Given the description of an element on the screen output the (x, y) to click on. 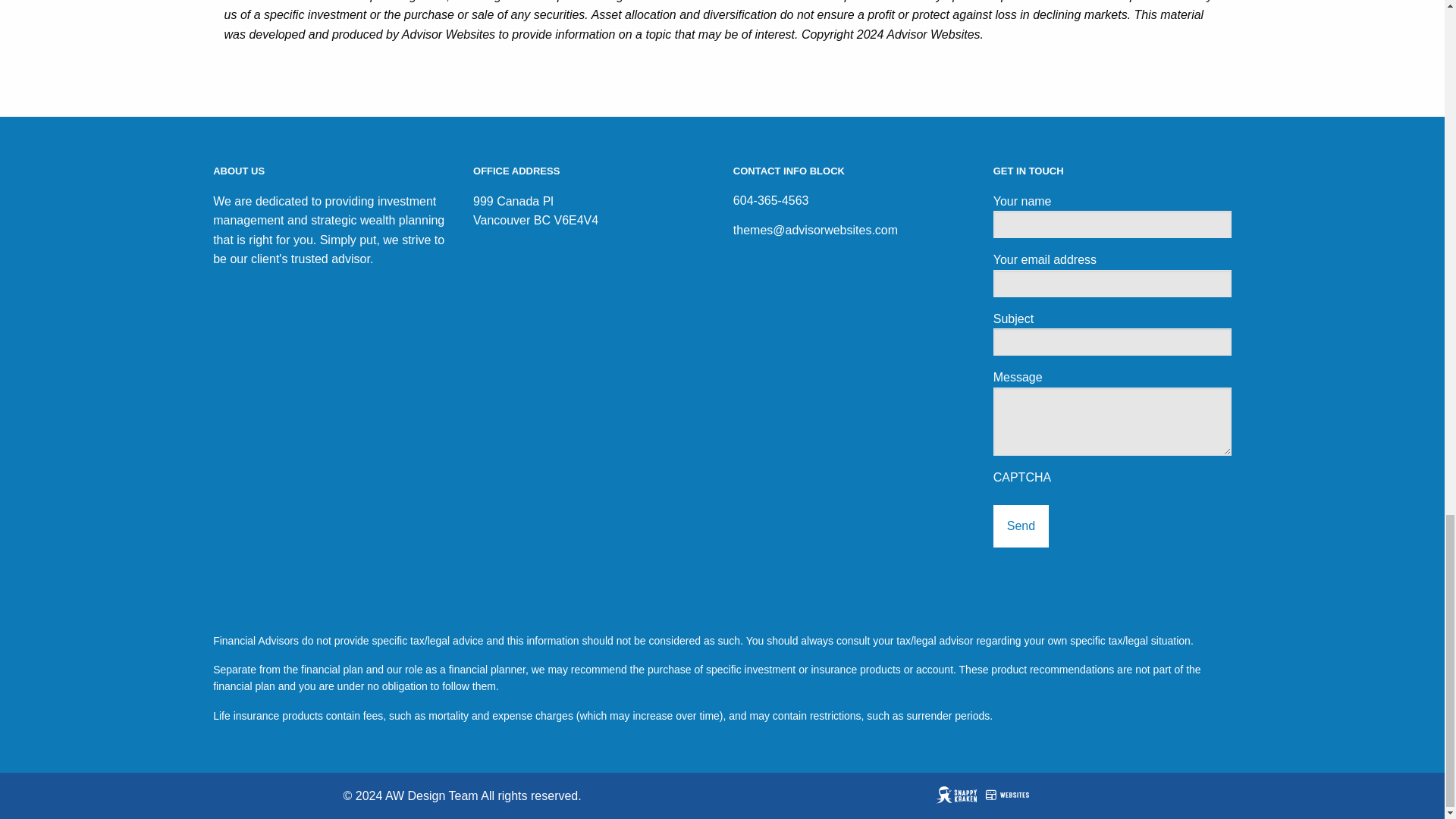
Send (1020, 526)
Send (1020, 526)
604-365-4563 (851, 199)
